Given the description of an element on the screen output the (x, y) to click on. 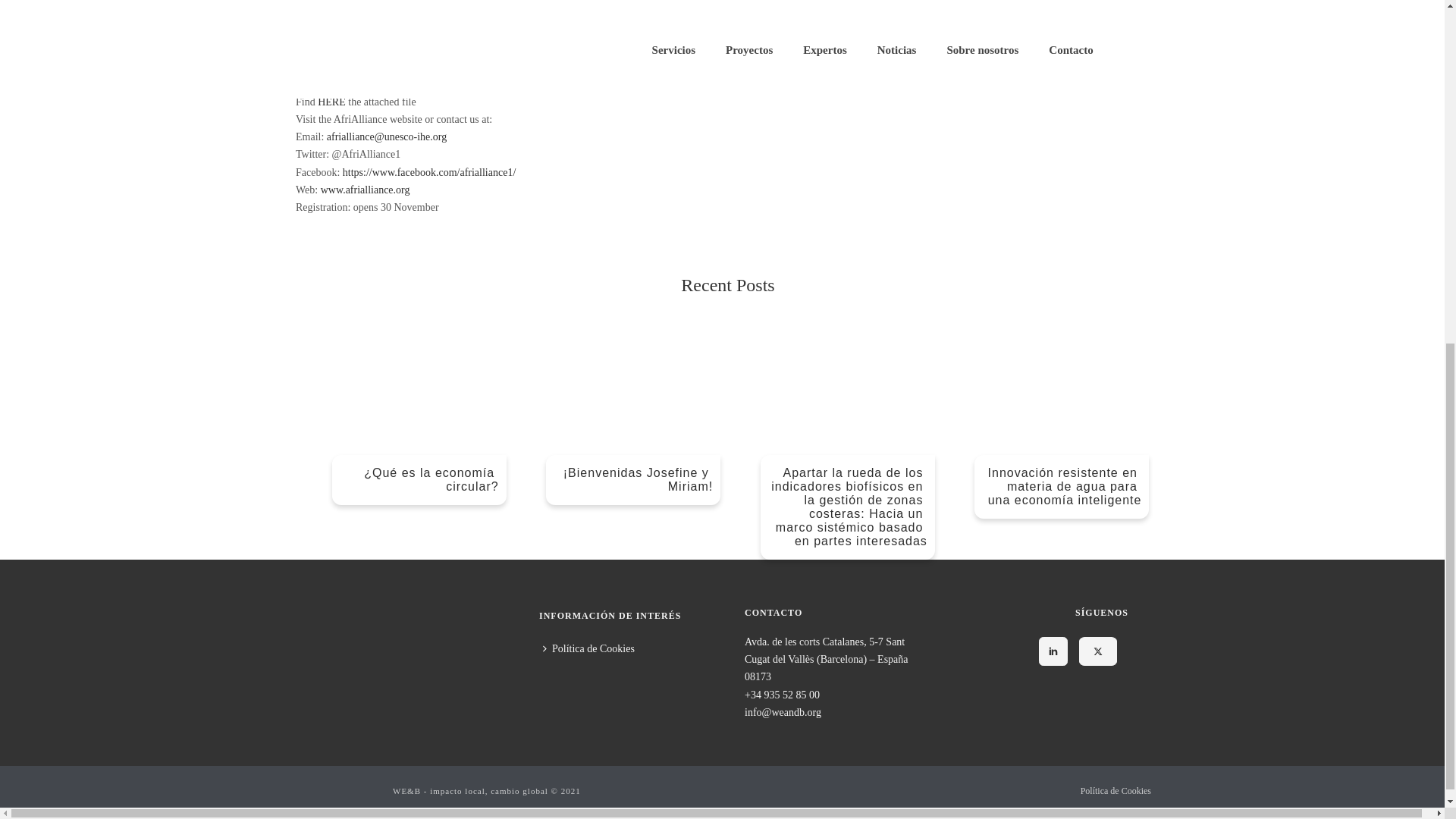
HERE (331, 101)
www.afrialliance.org (365, 189)
Follow Us on linkedin (1053, 651)
